Given the description of an element on the screen output the (x, y) to click on. 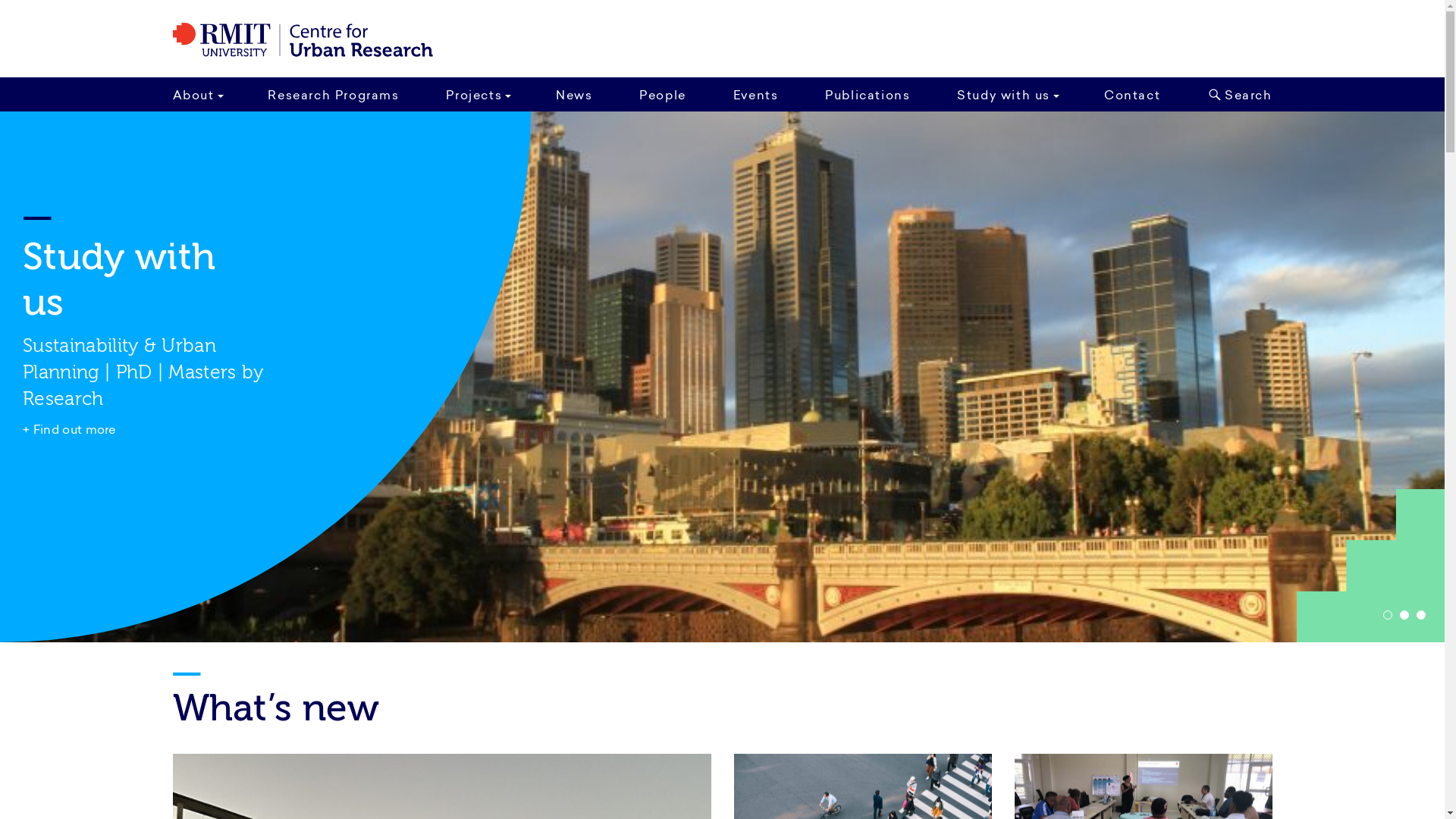
Events Element type: text (755, 94)
Publications Element type: text (867, 94)
Contact Element type: text (1131, 94)
About Element type: text (200, 94)
RMIT University Centre for Urban Research Element type: text (302, 39)
Research Programs Element type: text (333, 94)
People Element type: text (662, 94)
Study with us Element type: text (1006, 94)
Search Element type: text (1235, 94)
News Element type: text (573, 94)
Projects Element type: text (477, 94)
